Given the description of an element on the screen output the (x, y) to click on. 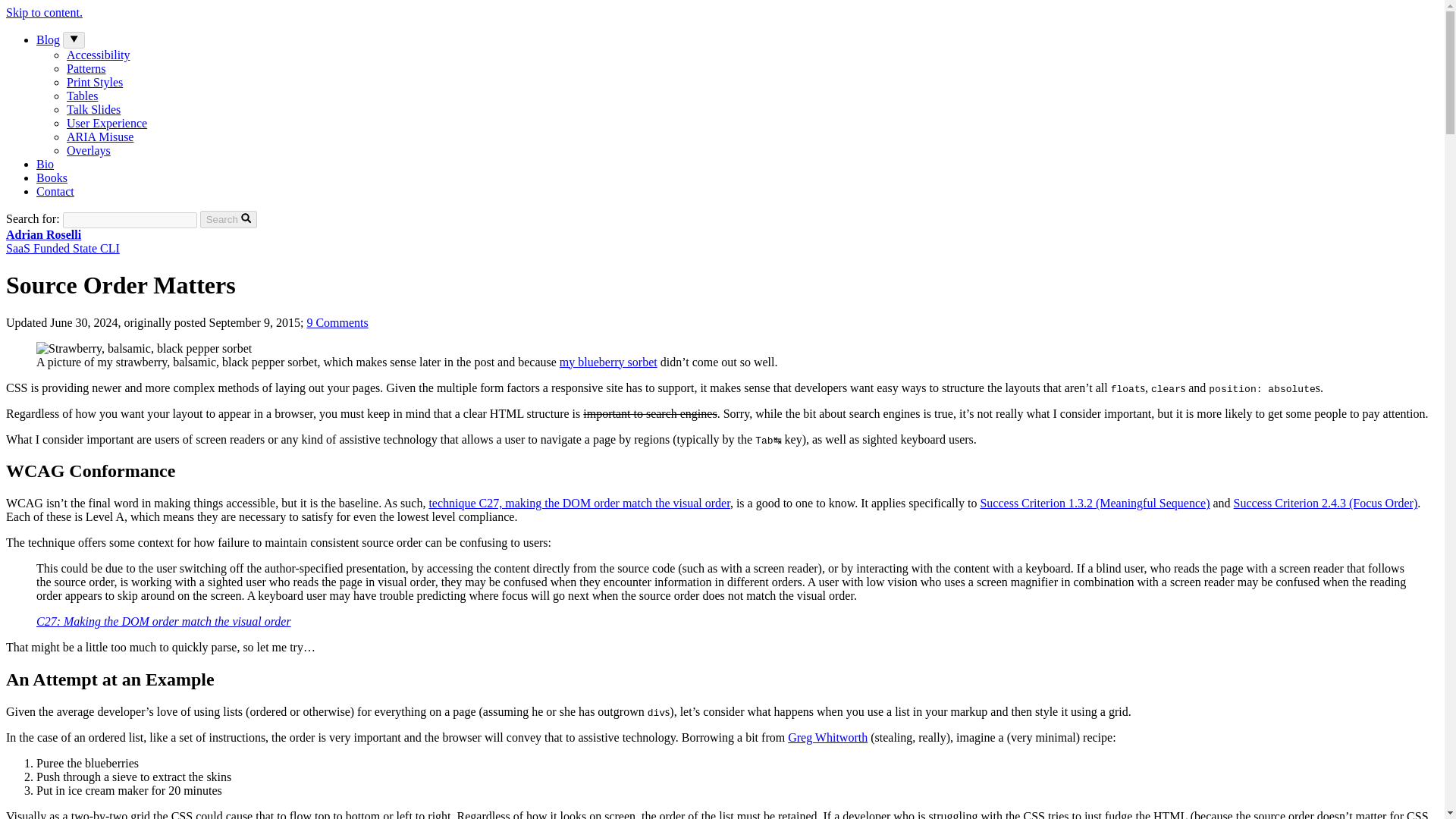
my blueberry sorbet (608, 361)
Talk Slides (93, 109)
9 Comments (336, 322)
ARIA Misuse (62, 241)
User Experience (99, 136)
Books (106, 123)
Bio (51, 177)
Greg Whitworth (44, 164)
Blog (827, 737)
Contact (47, 39)
technique C27, making the DOM order match the visual order (55, 191)
Tables (578, 502)
C27: Making the DOM order match the visual order (82, 95)
Print Styles (163, 621)
